Given the description of an element on the screen output the (x, y) to click on. 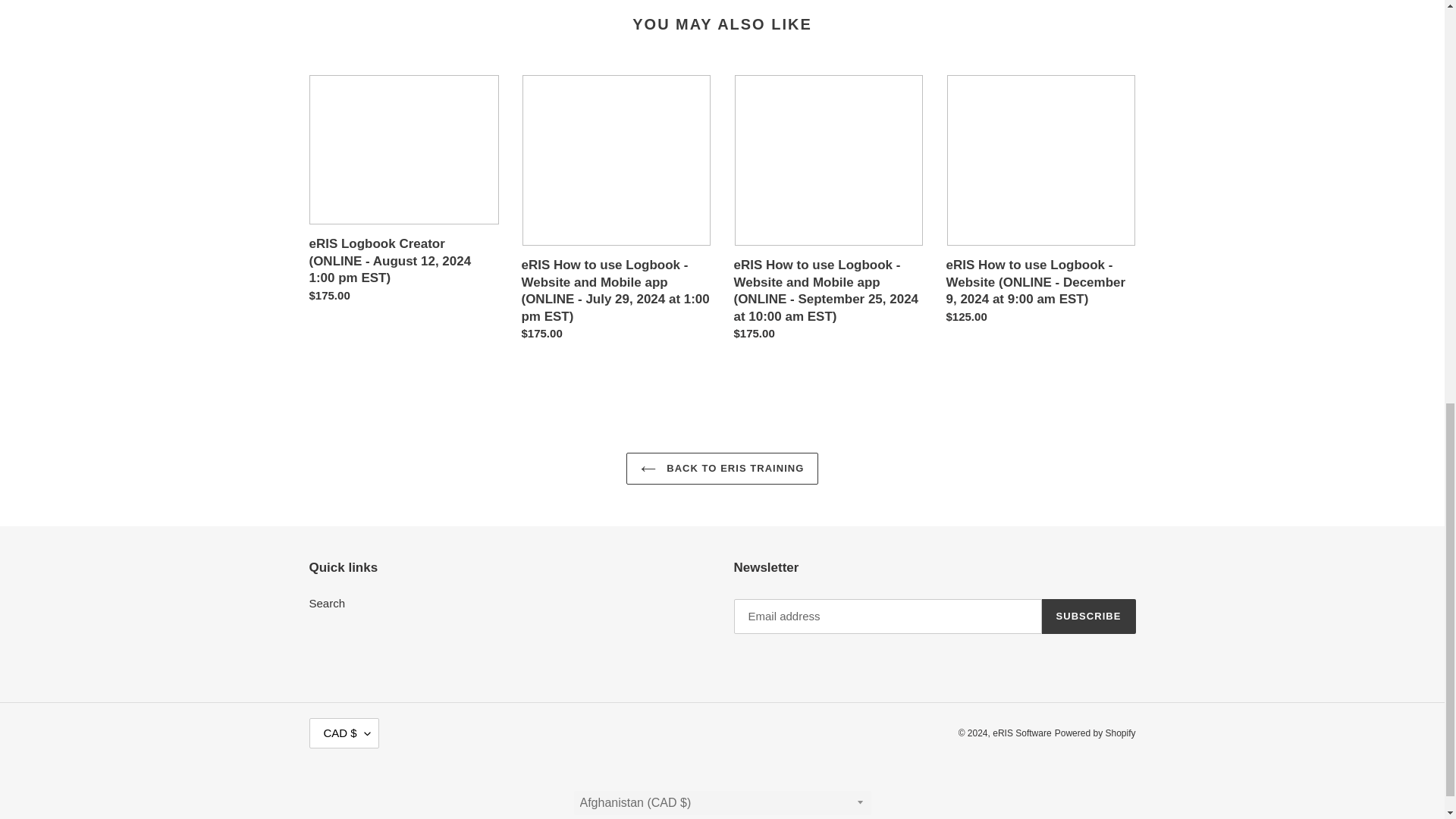
Search (327, 603)
SUBSCRIBE (1088, 615)
eRIS Software (1021, 733)
BACK TO ERIS TRAINING (722, 468)
Powered by Shopify (1094, 733)
